Given the description of an element on the screen output the (x, y) to click on. 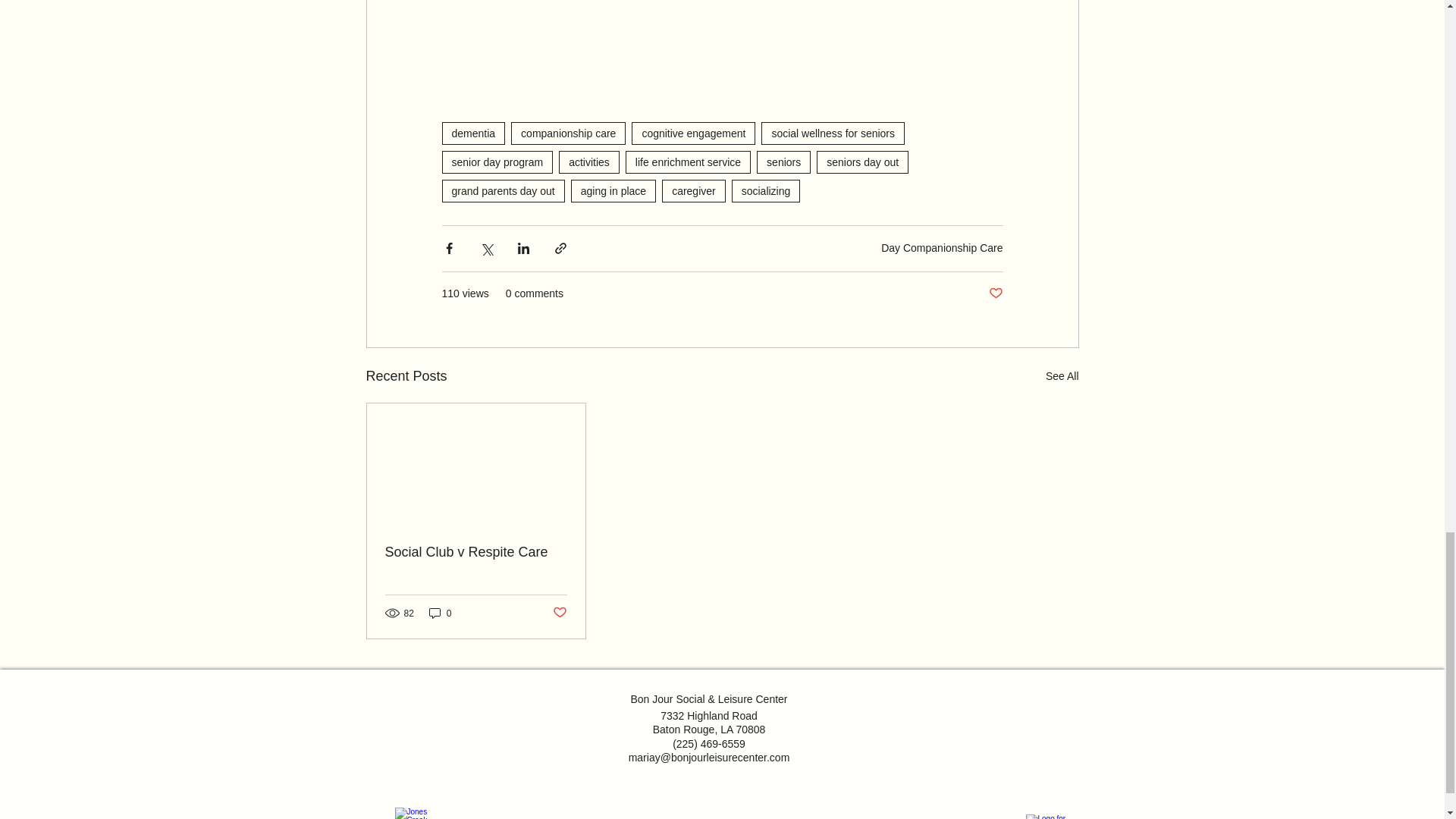
life enrichment service (688, 161)
seniors (783, 161)
dementia (473, 133)
socializing (766, 190)
aging in place (613, 190)
seniors day out (862, 161)
caregiver (693, 190)
companionship care (568, 133)
senior day program (497, 161)
cognitive engagement (693, 133)
